Given the description of an element on the screen output the (x, y) to click on. 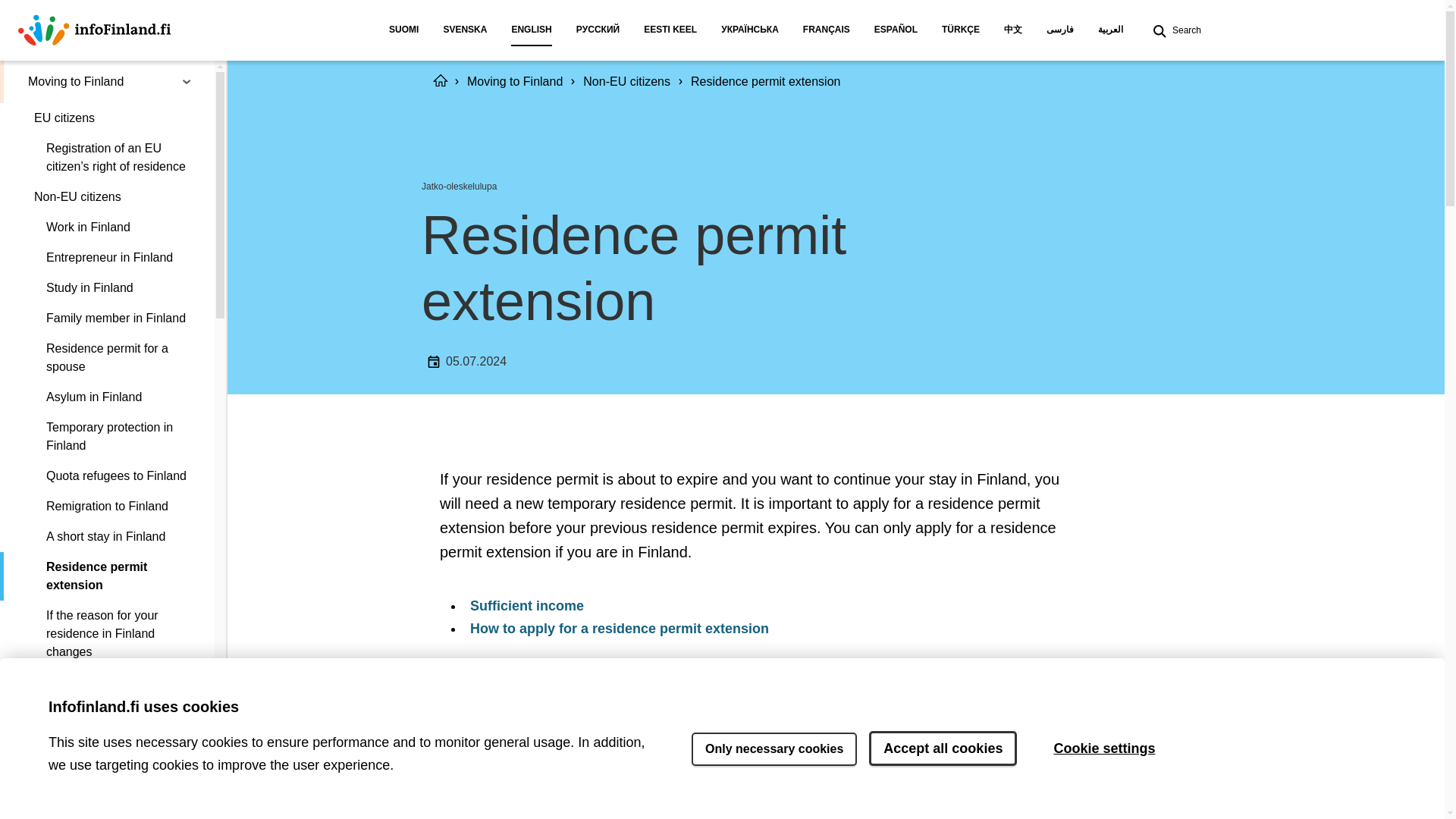
SUOMI (403, 29)
Non-EU citizens (107, 196)
A short stay in Finland (107, 536)
EU citizens (107, 118)
Permanent residence permit (107, 682)
Suomi (403, 29)
Residence permit extension (107, 576)
English (531, 29)
Home page (94, 29)
Entrepreneur in Finland (107, 257)
